Given the description of an element on the screen output the (x, y) to click on. 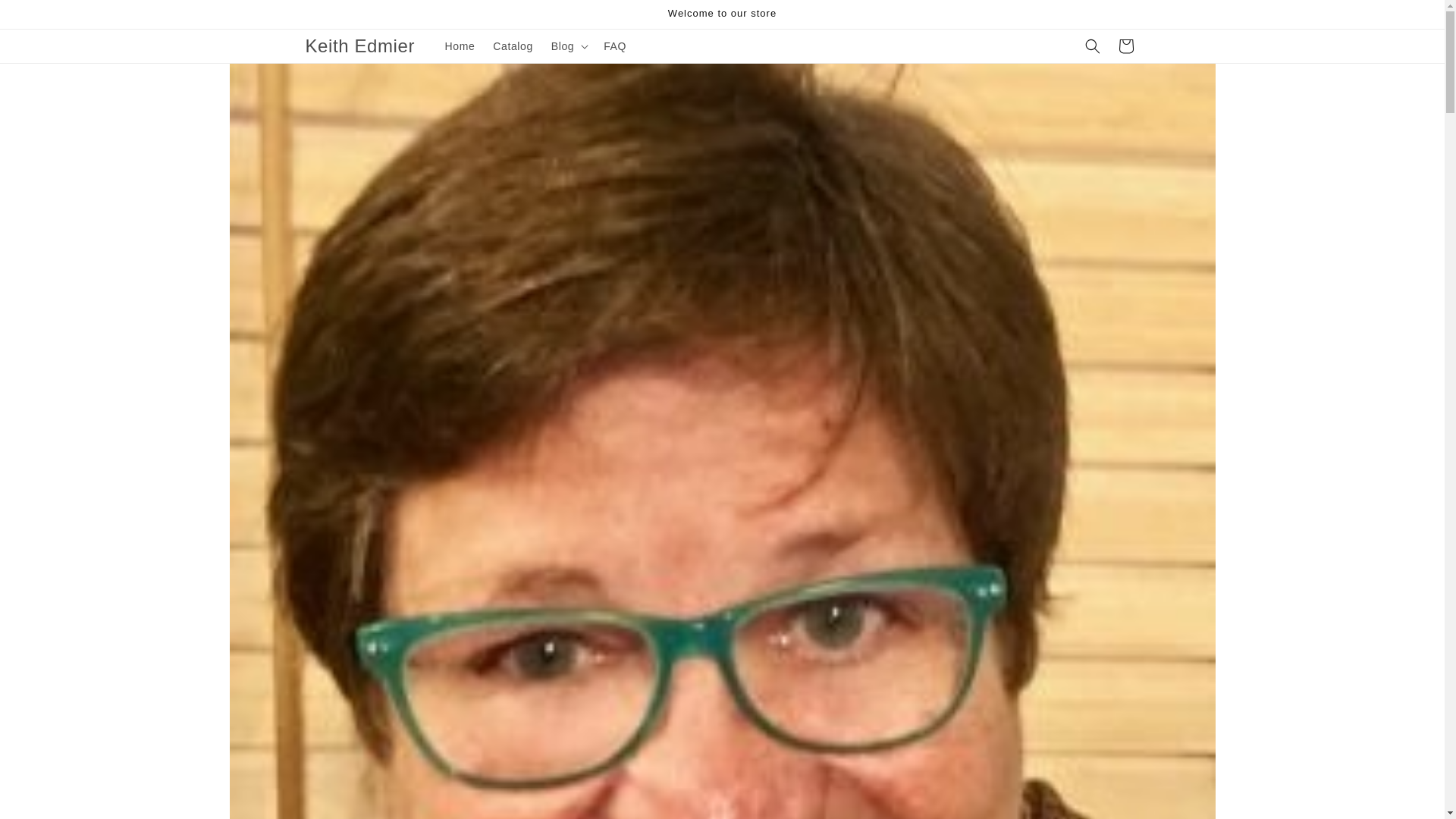
Skip to content (45, 17)
Cart (1124, 46)
Keith Edmier (359, 46)
FAQ (614, 46)
Catalog (512, 46)
Home (459, 46)
